Given the description of an element on the screen output the (x, y) to click on. 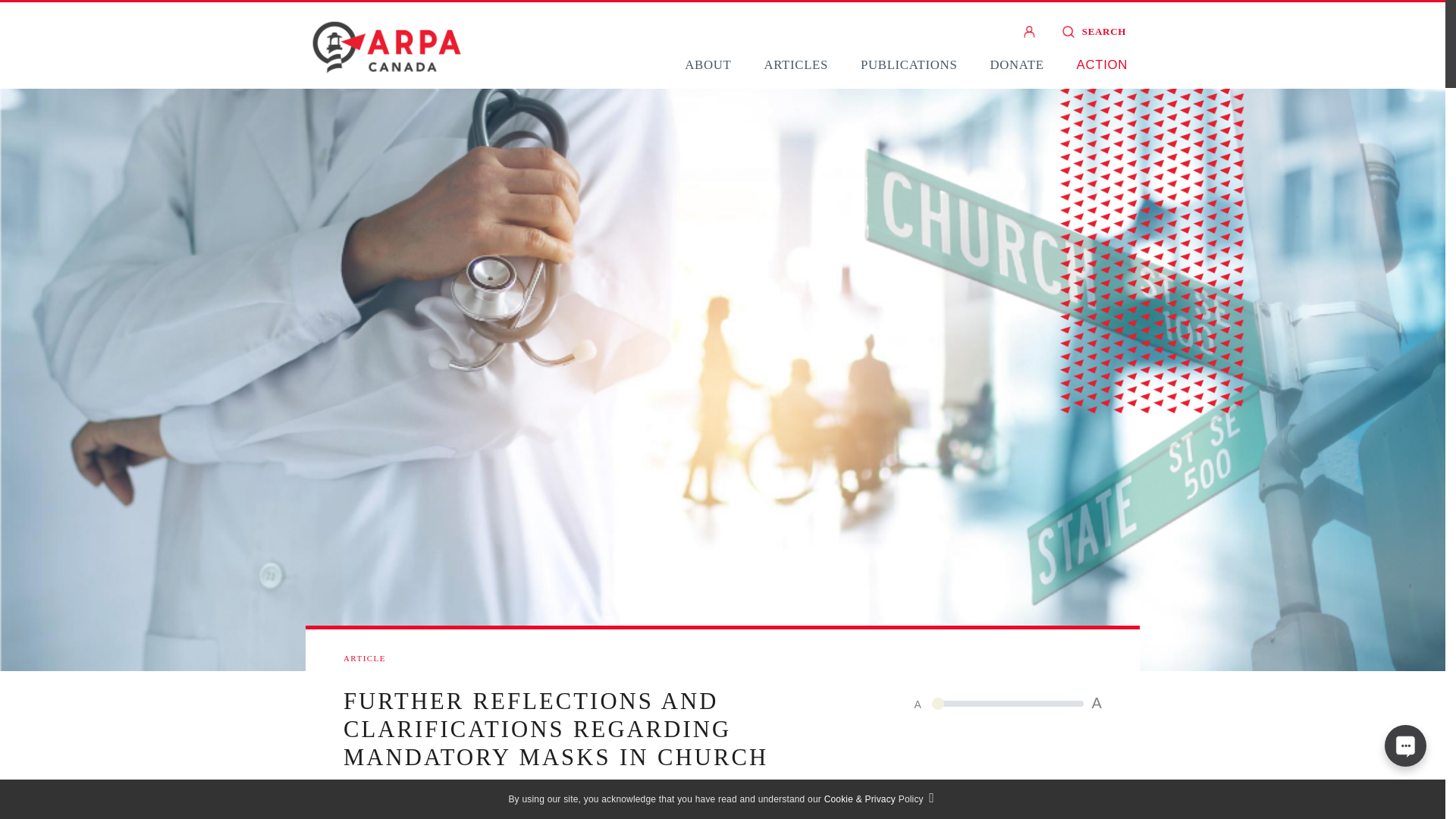
ACTION (1101, 64)
PUBLICATIONS (909, 64)
ARTICLES (795, 64)
ABOUT (707, 64)
14 (1007, 703)
DONATE (1016, 64)
